Given the description of an element on the screen output the (x, y) to click on. 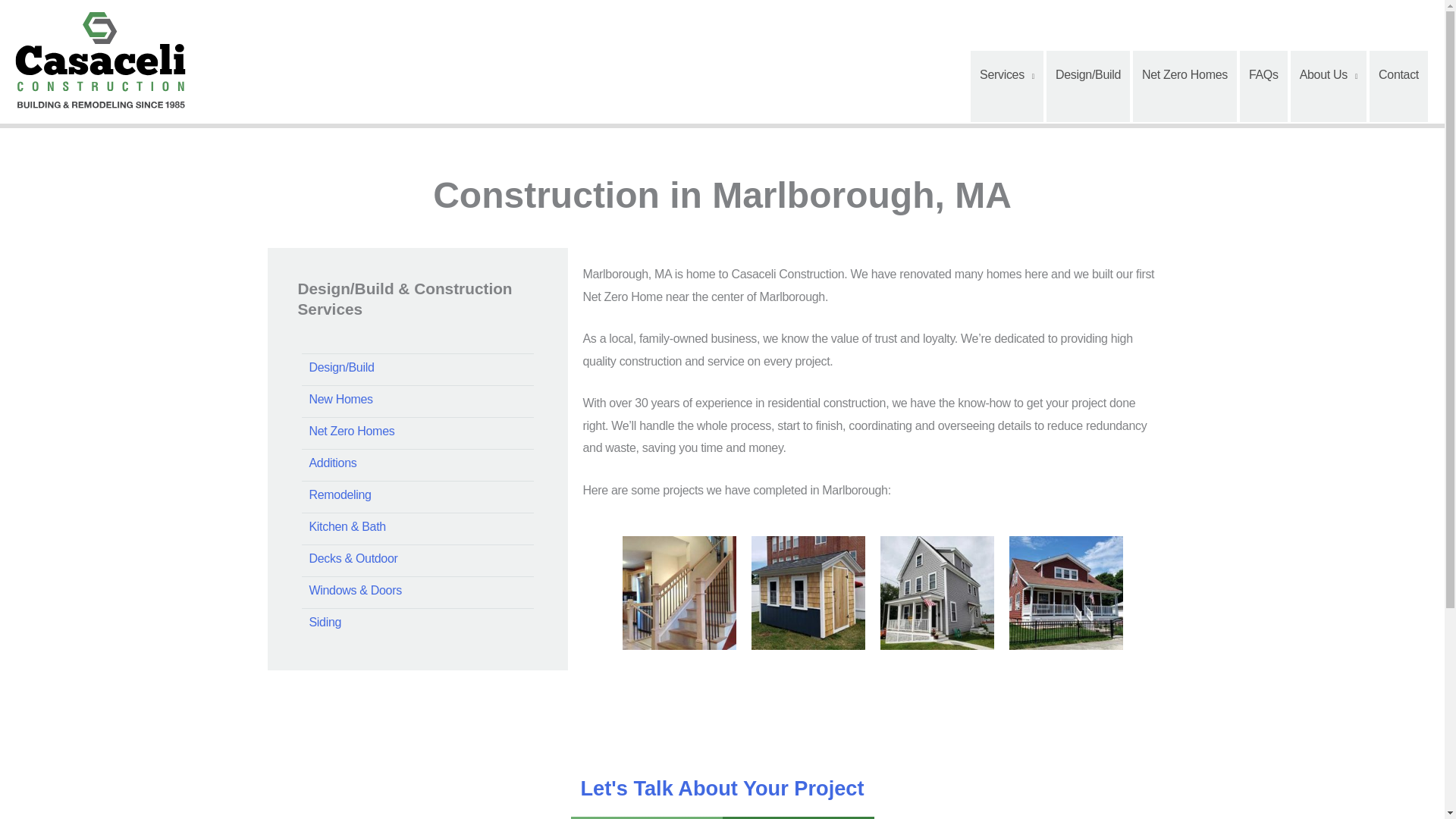
New Homes (417, 398)
Let's Talk About Your Project (721, 788)
Net Zero Homes (417, 430)
About Us (1328, 86)
Services (1007, 86)
Siding (417, 622)
CALL (797, 817)
Additions (417, 462)
EMAIL (646, 817)
Remodeling (417, 494)
Let's Talk About Your Project (721, 788)
Net Zero Homes (1184, 86)
